Given the description of an element on the screen output the (x, y) to click on. 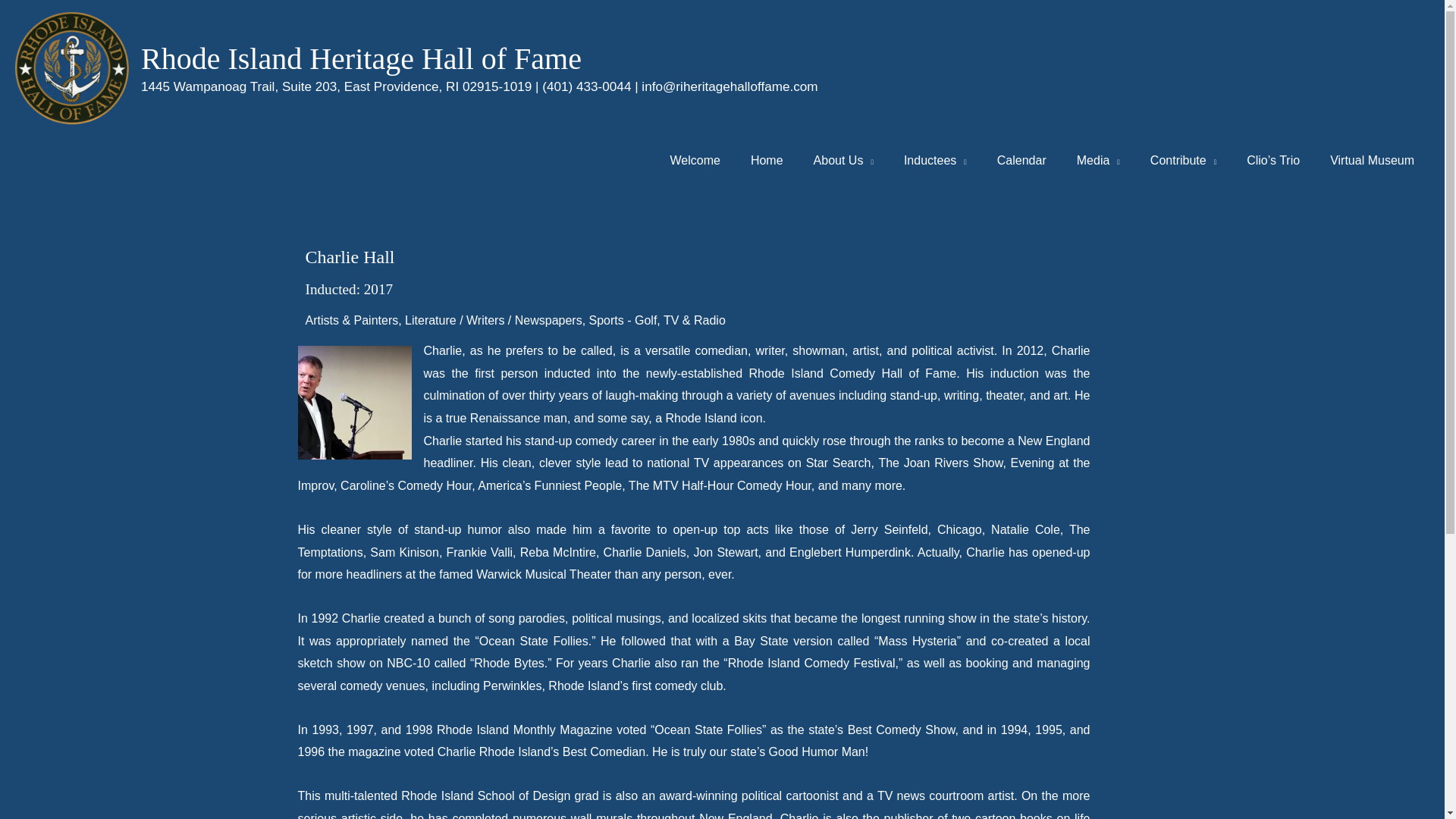
Rhode Island Heritage Hall of Fame (360, 58)
Inductees (934, 160)
Contribute (1183, 160)
Virtual Museum (1371, 160)
About Us (842, 160)
Welcome (695, 160)
Media (1098, 160)
Home (766, 160)
Calendar (1021, 160)
